Given the description of an element on the screen output the (x, y) to click on. 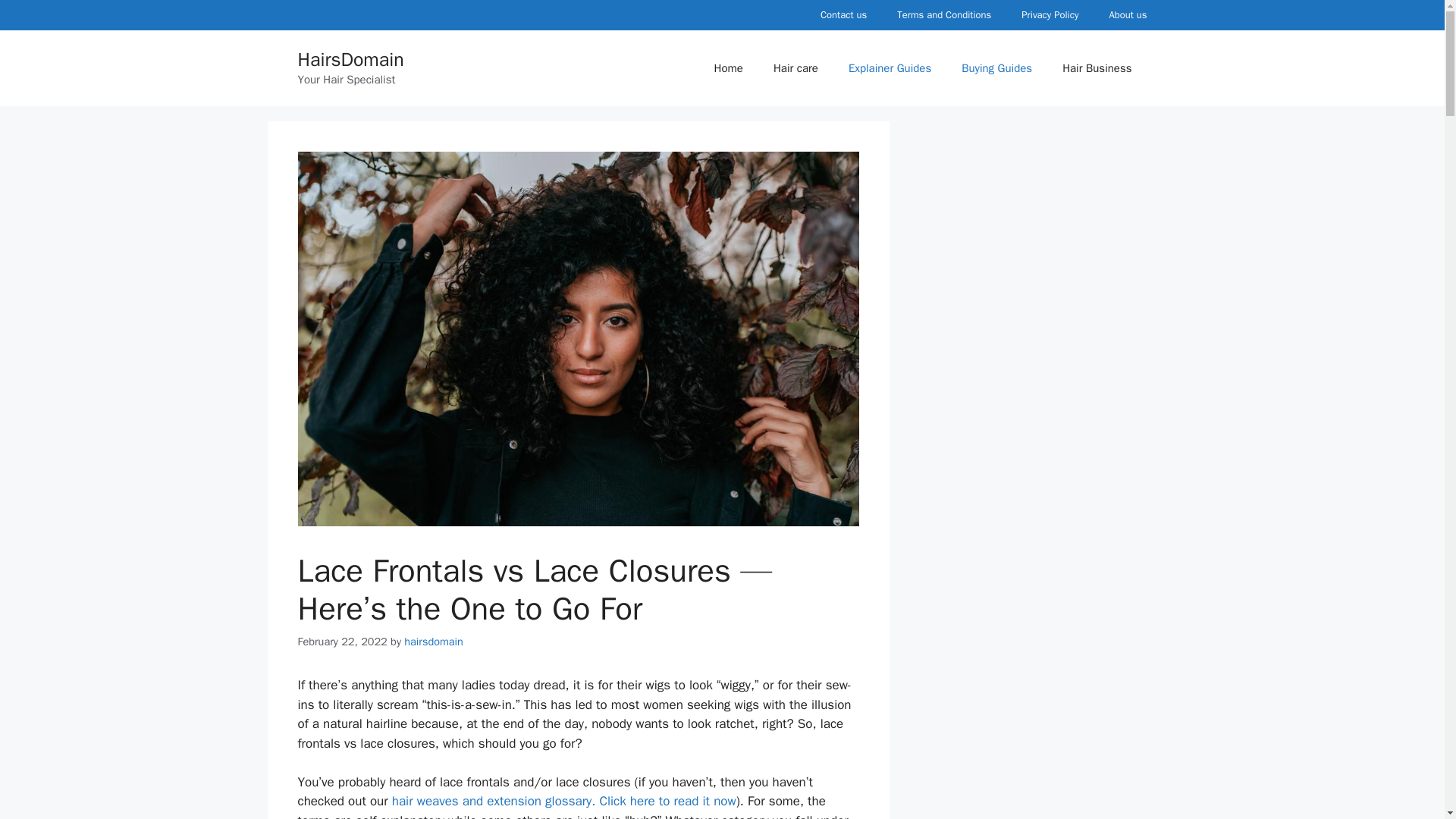
Home (728, 67)
HairsDomain (350, 59)
View all posts by hairsdomain (433, 641)
hairsdomain (433, 641)
Contact us (843, 15)
Buying Guides (996, 67)
Privacy Policy (1049, 15)
Hair care (795, 67)
Hair Business (1096, 67)
Terms and Conditions (944, 15)
Explainer Guides (889, 67)
About us (1127, 15)
